Given the description of an element on the screen output the (x, y) to click on. 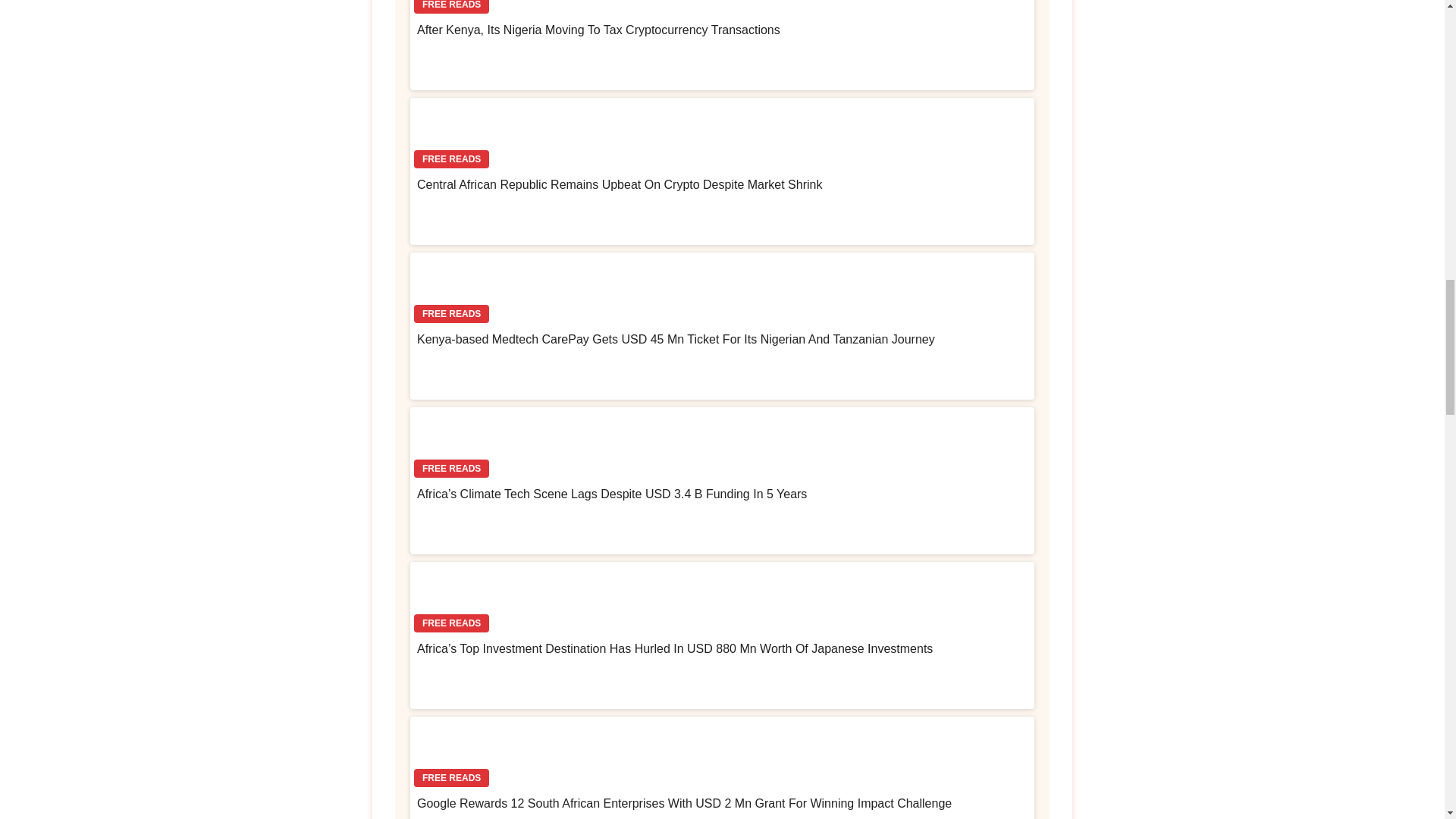
FREE READS (721, 135)
FREE READS (721, 9)
